Given the description of an element on the screen output the (x, y) to click on. 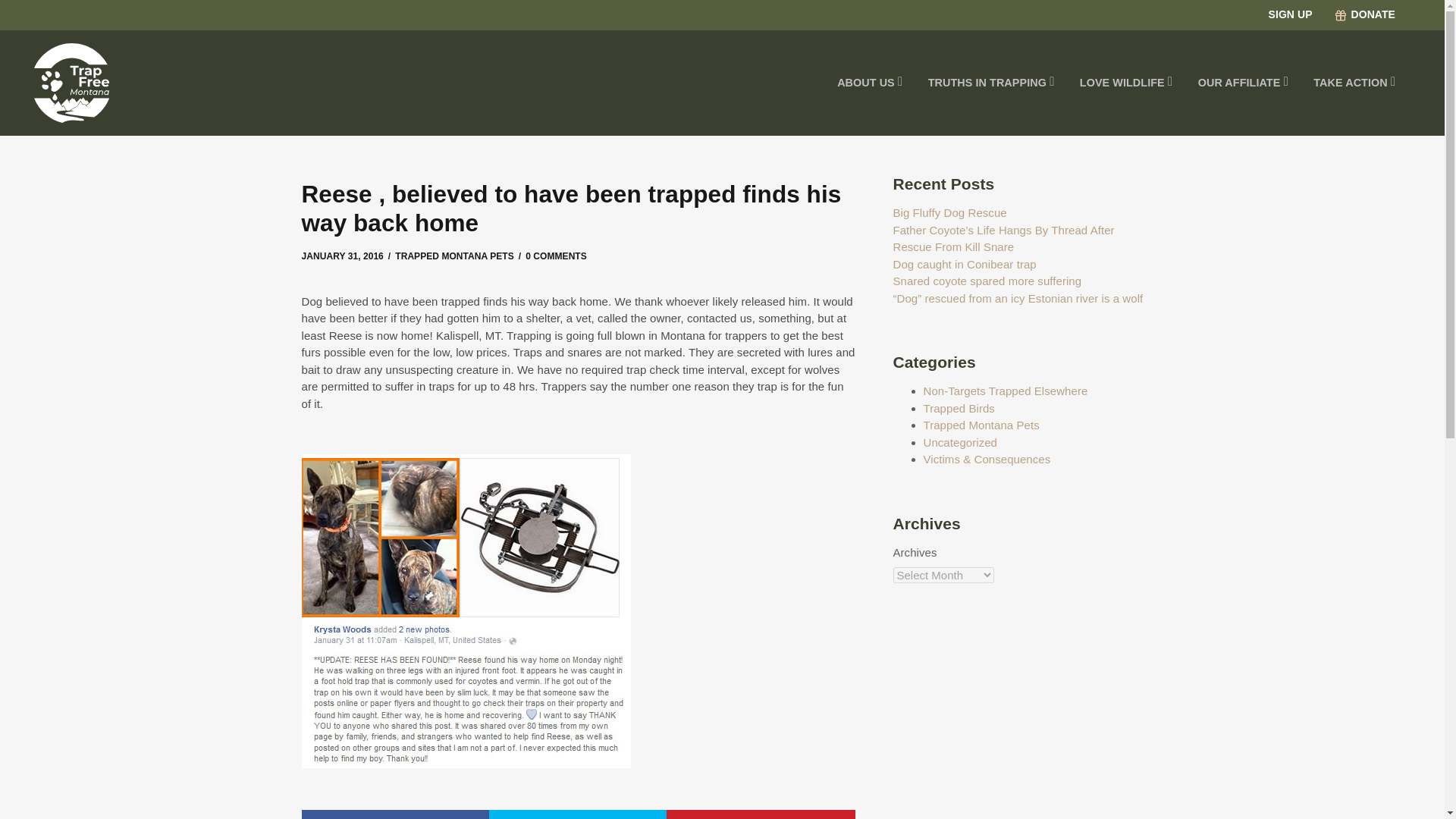
LOVE WILDLIFE (1125, 83)
OUR AFFILIATE (1243, 83)
TRUTHS IN TRAPPING (991, 83)
Share page on Facebook (395, 814)
SIGN UP (1282, 28)
Share page on Twitter (577, 814)
Share page on Pinterest (761, 814)
DONATE (1364, 28)
ABOUT US (870, 83)
